Given the description of an element on the screen output the (x, y) to click on. 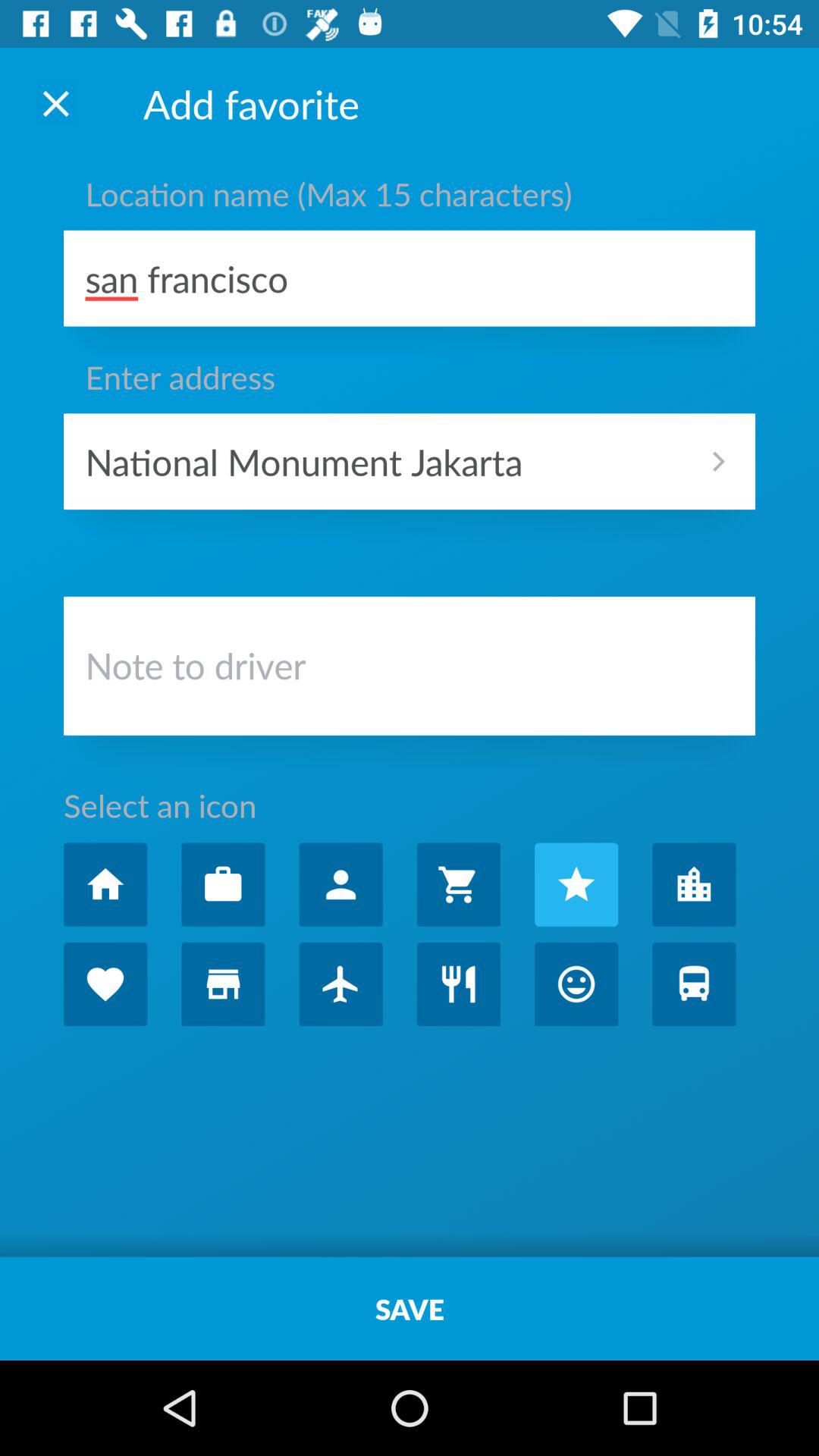
open emote page (576, 984)
